Given the description of an element on the screen output the (x, y) to click on. 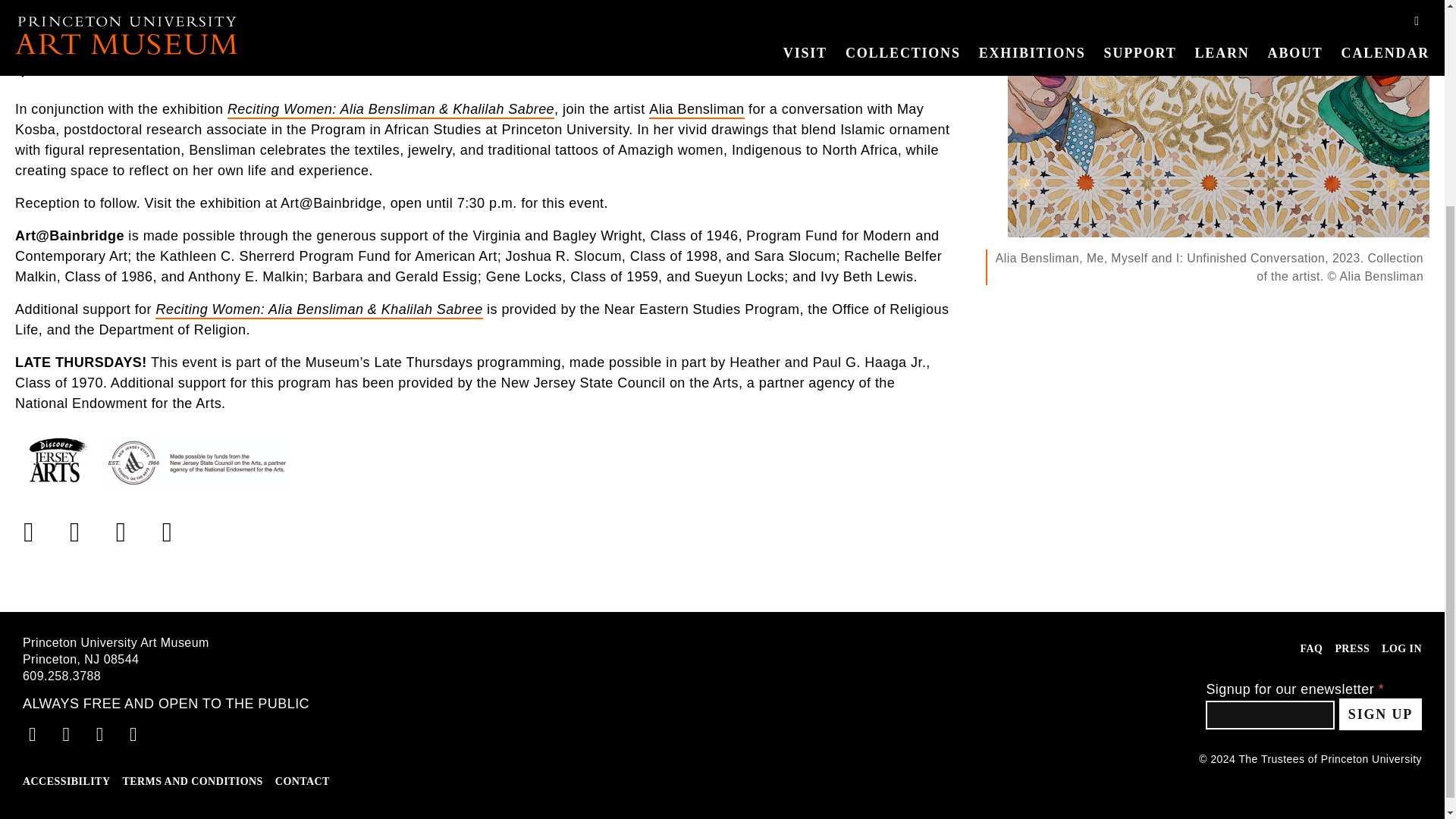
Sign Up (1380, 714)
